Given the description of an element on the screen output the (x, y) to click on. 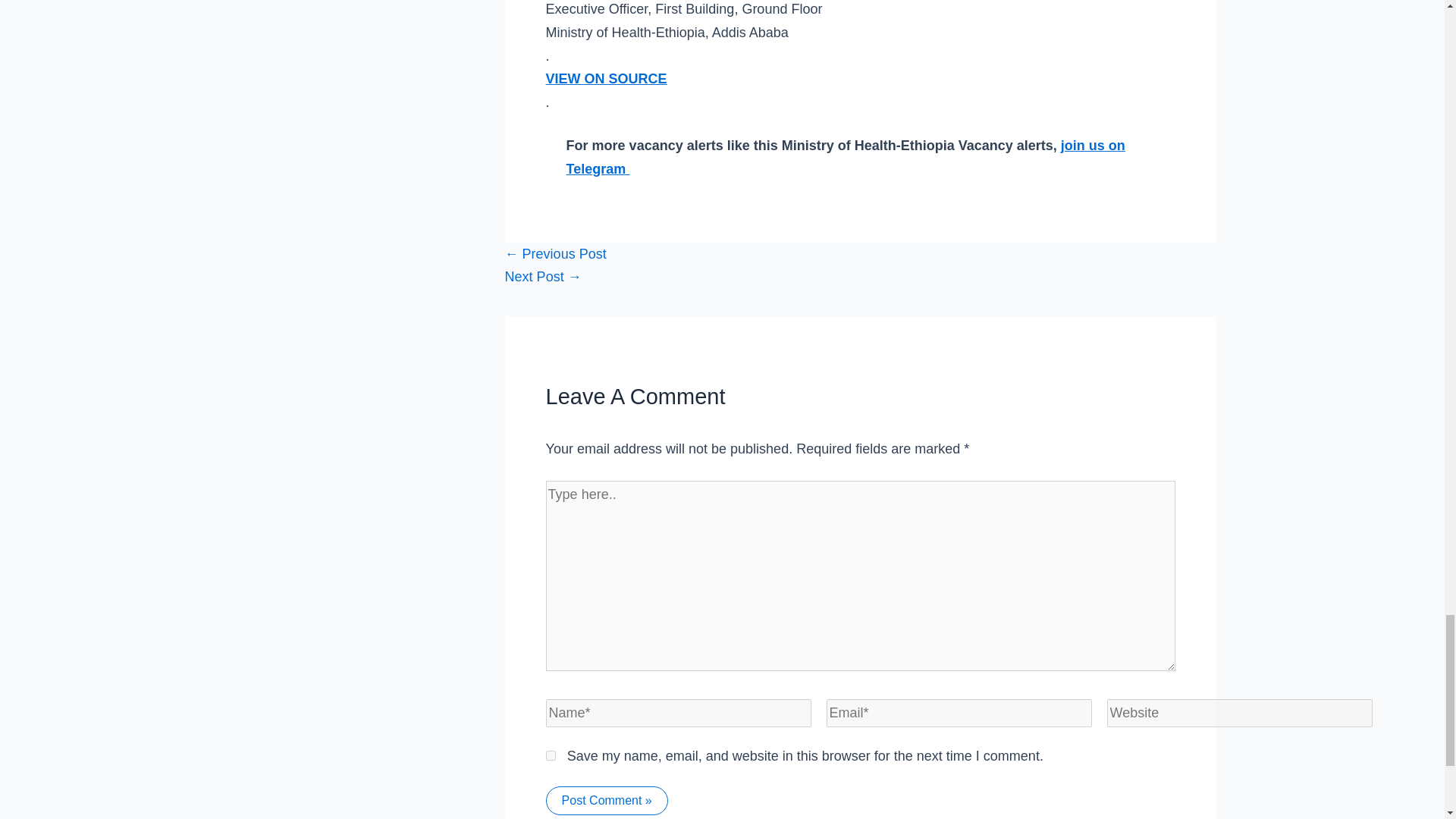
Nutrition Officer - Islamic Relief Vacancy Announcement (556, 253)
yes (551, 755)
